Given the description of an element on the screen output the (x, y) to click on. 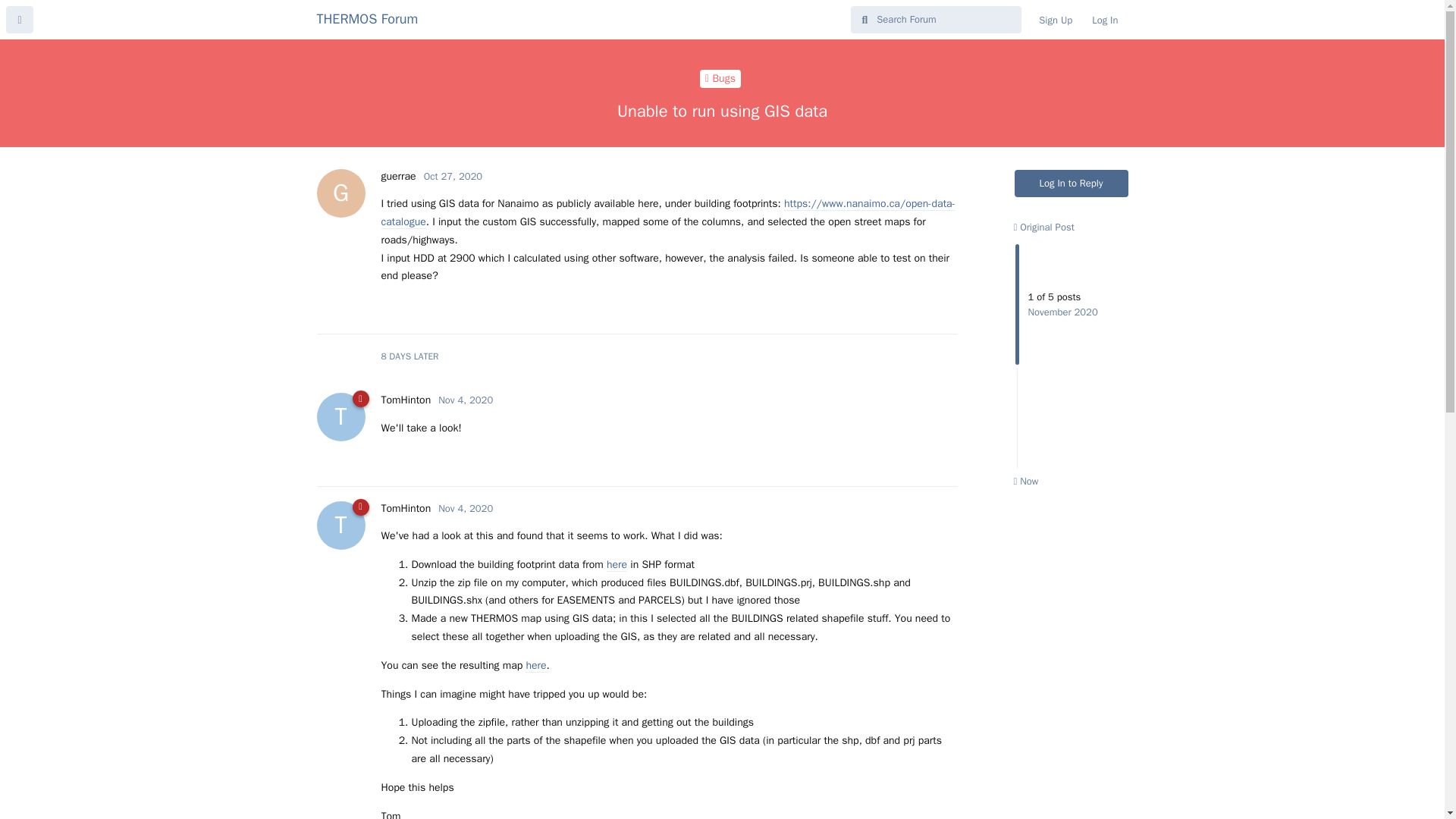
Now (405, 399)
Original Post (1025, 481)
Oct 27, 2020 (1043, 226)
Wednesday, November 4, 2020 8:14 PM (452, 175)
If you are having trouble with THERMOS write about it here (465, 508)
Nov 4, 2020 (720, 78)
here (465, 508)
THERMOS Forum (617, 564)
Bugs (368, 18)
Sign Up (720, 78)
Log In to Reply (1055, 19)
Wednesday, November 4, 2020 5:43 PM (1071, 183)
Log In (465, 399)
here (1103, 19)
